Given the description of an element on the screen output the (x, y) to click on. 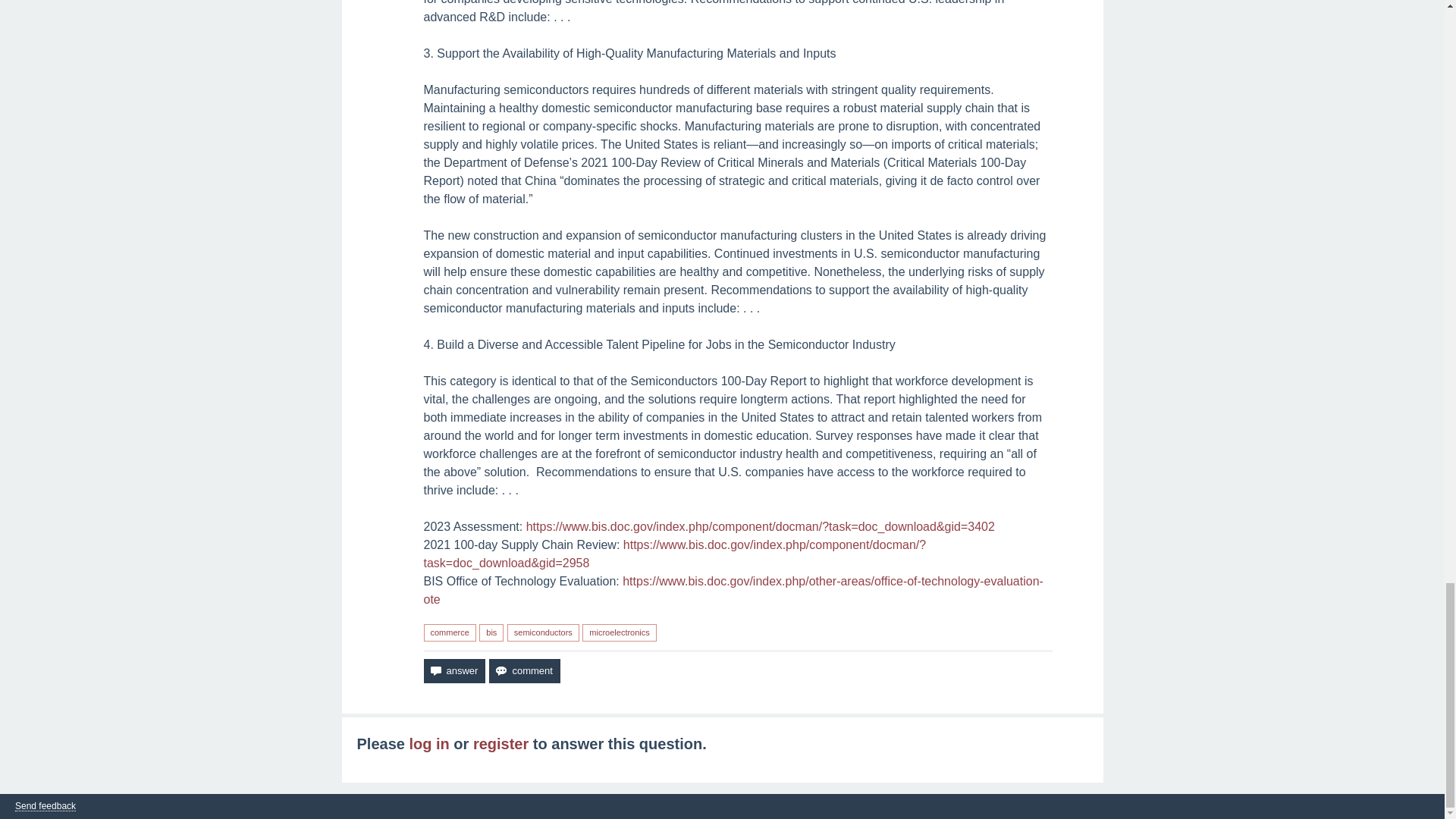
Answer this question (453, 671)
microelectronics (619, 632)
semiconductors (542, 632)
answer (453, 671)
Add a comment on this question (524, 671)
comment (524, 671)
bis (491, 632)
register (500, 743)
answer (453, 671)
Send feedback (44, 806)
comment (524, 671)
log in (428, 743)
commerce (449, 632)
